Given the description of an element on the screen output the (x, y) to click on. 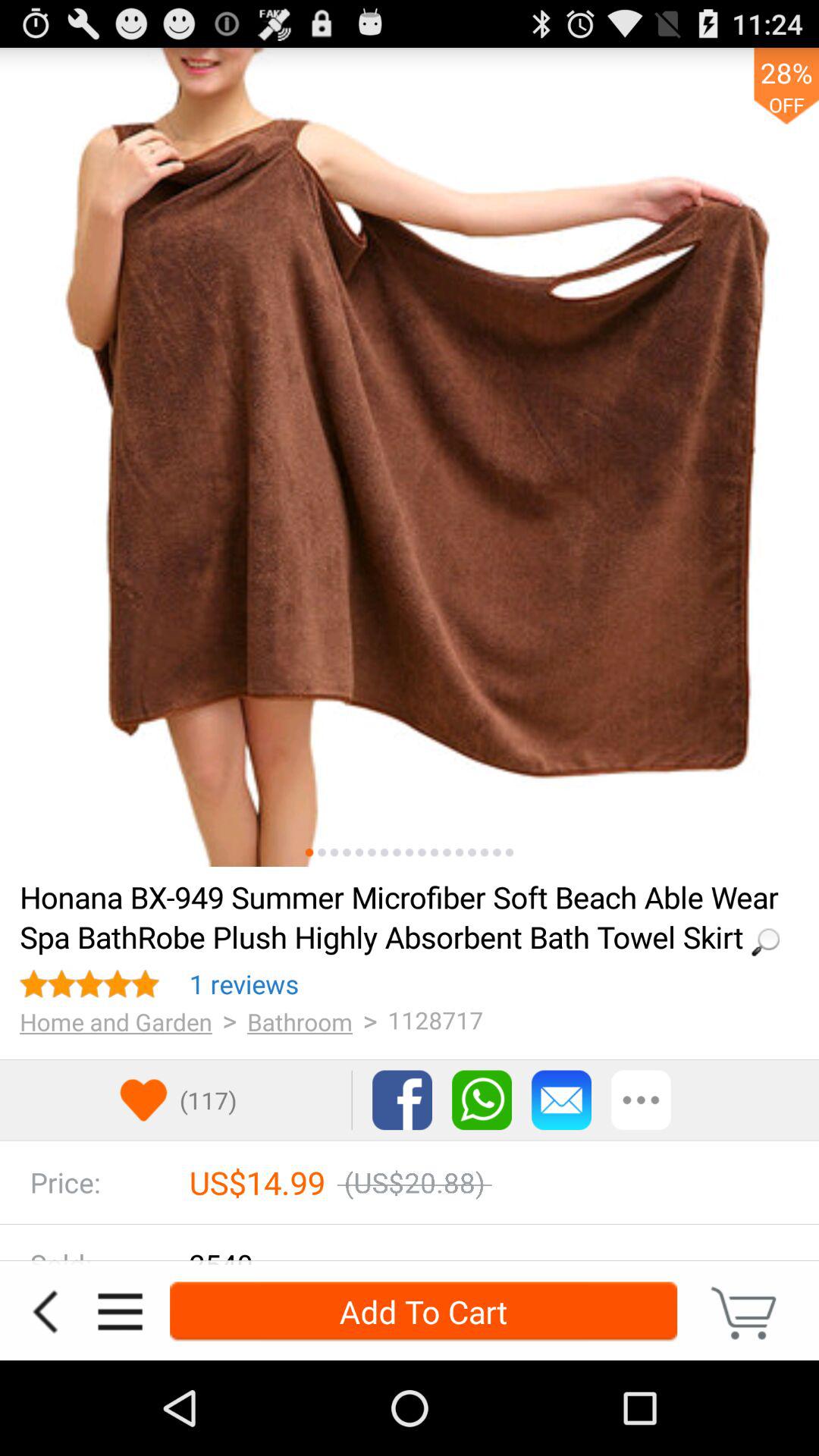
go to next (497, 852)
